Given the description of an element on the screen output the (x, y) to click on. 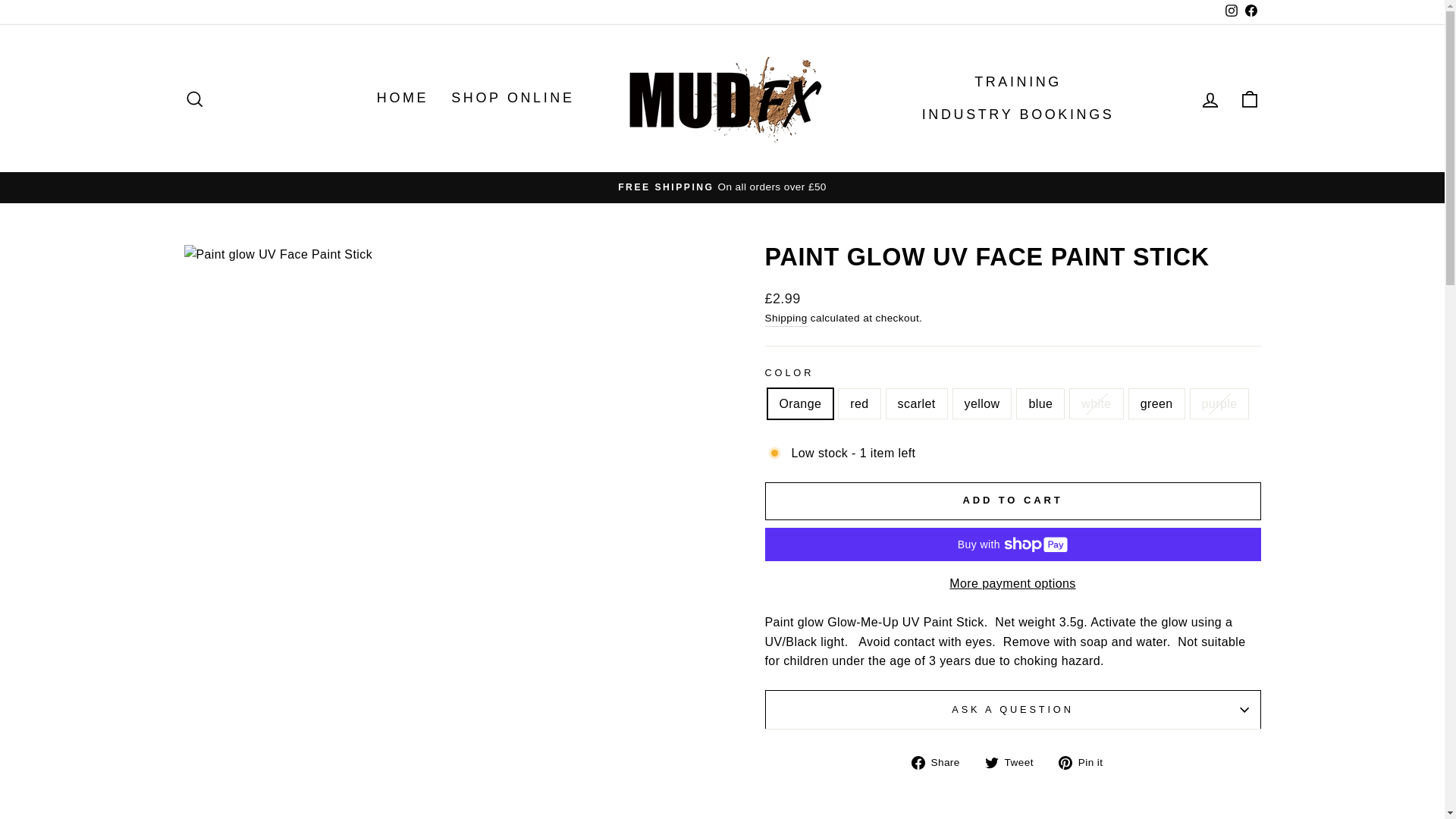
Share on Facebook (941, 762)
More payment options (1012, 583)
Tweet on Twitter (1015, 762)
Pin on Pinterest (1085, 762)
ADD TO CART (1012, 501)
TRAINING (1017, 81)
LOG IN (1210, 98)
HOME (402, 98)
